Given the description of an element on the screen output the (x, y) to click on. 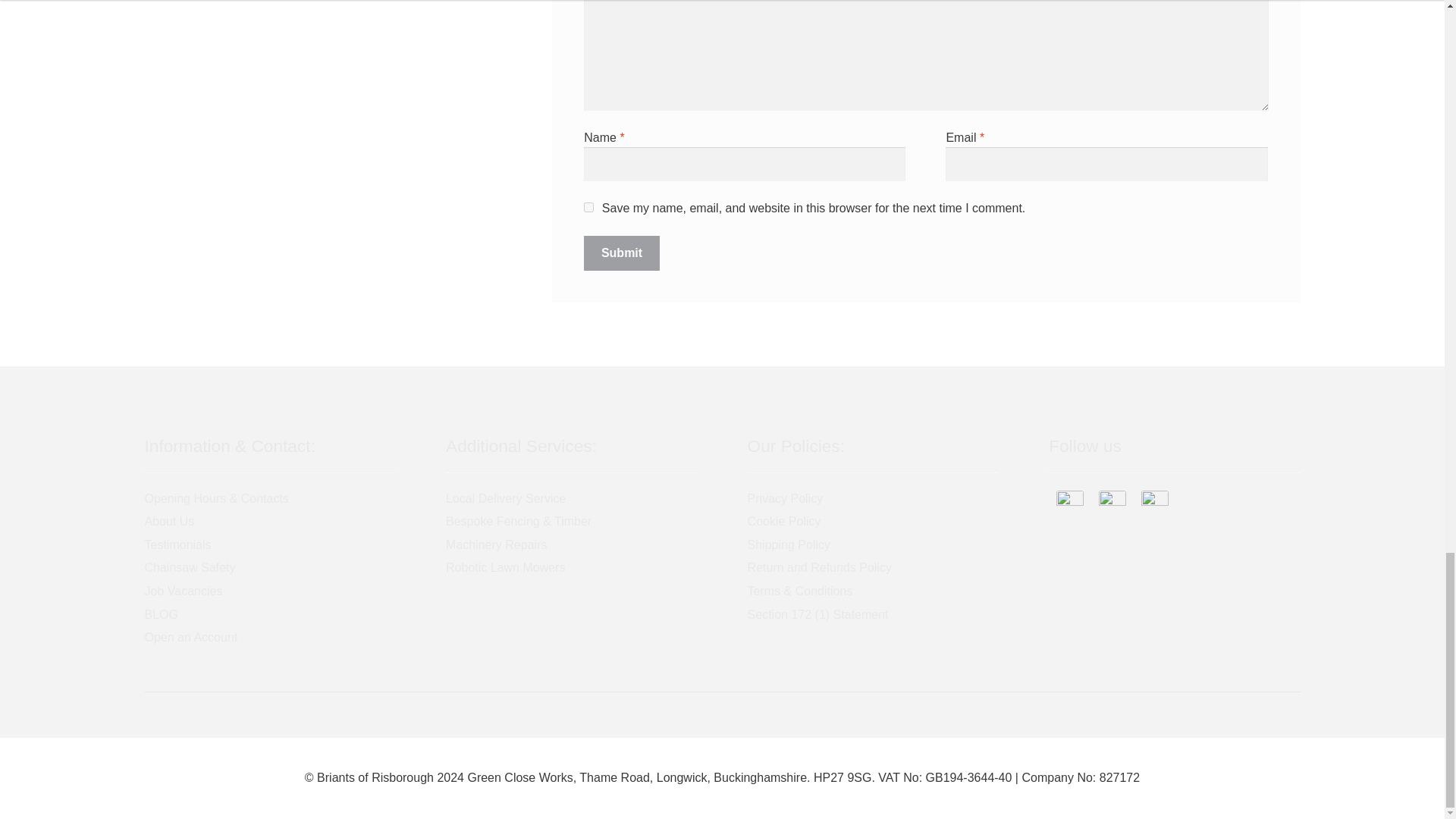
Facebook (1070, 504)
Testimonials (177, 544)
About Us (168, 521)
Chainsaw Safety (189, 567)
Job Vacancies (183, 590)
Instagram (1112, 504)
yes (588, 207)
Submit (621, 253)
Submit (621, 253)
YouTube (1155, 504)
